Given the description of an element on the screen output the (x, y) to click on. 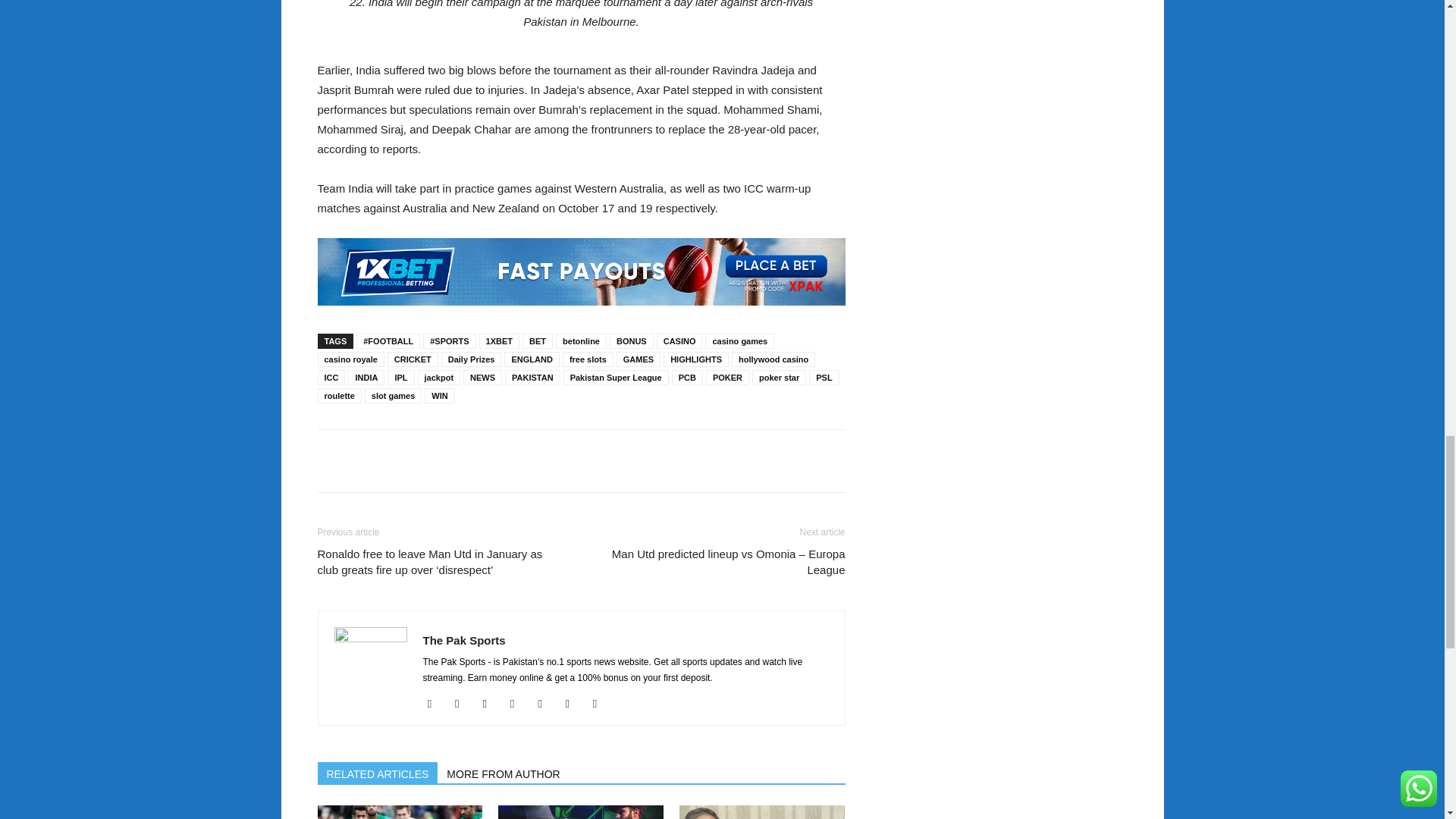
Instagram (489, 703)
Facebook (462, 703)
Blogger (435, 703)
Mail (518, 703)
